Given the description of an element on the screen output the (x, y) to click on. 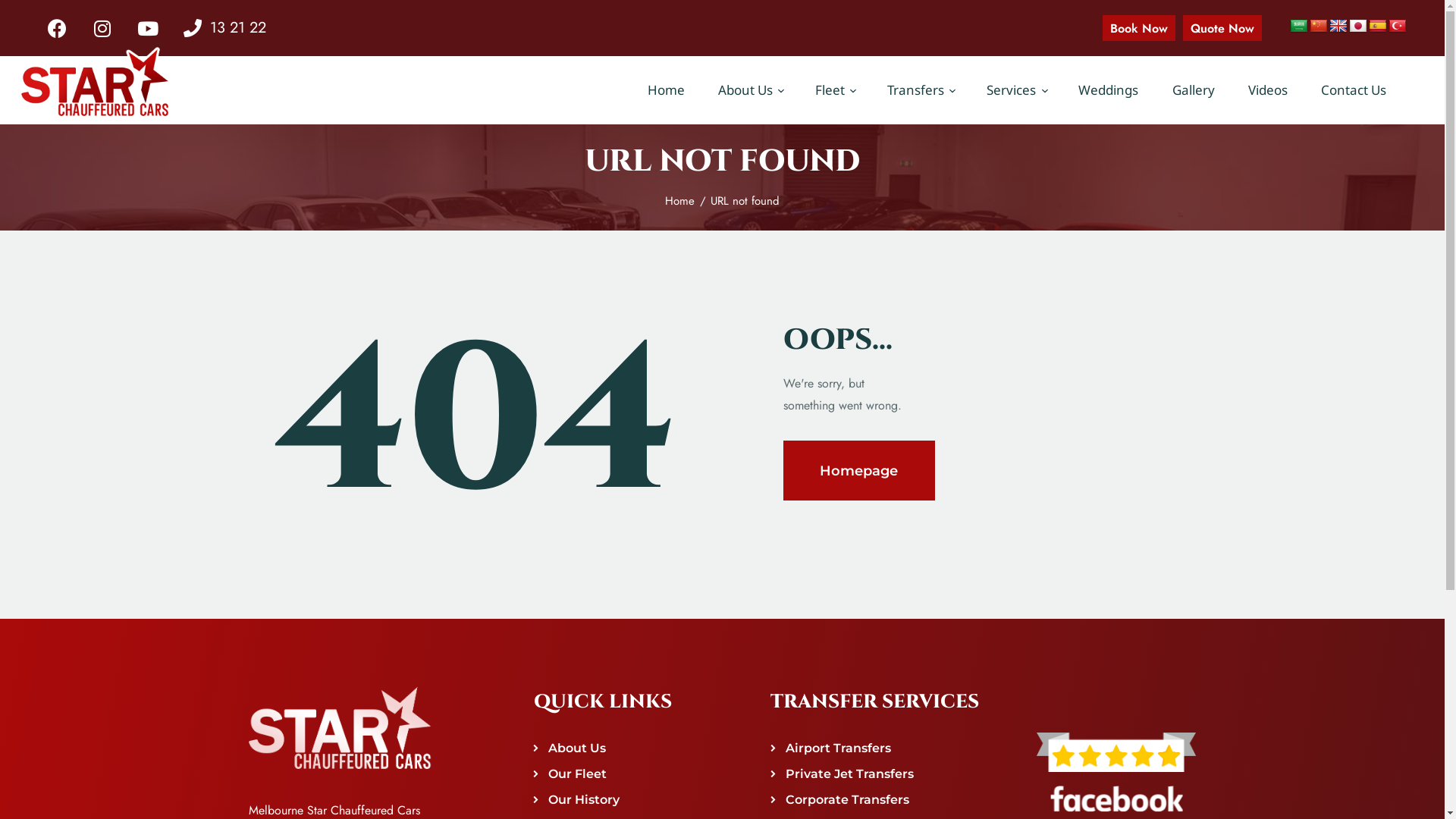
Turkish Element type: hover (1397, 26)
Fleet Element type: text (834, 89)
Chinese (Simplified) Element type: hover (1318, 26)
Spanish Element type: hover (1377, 26)
Airport Transfers Element type: text (838, 747)
Homepage Element type: text (858, 470)
Quote Now Element type: text (1222, 27)
About Us Element type: text (576, 747)
Services Element type: text (1015, 89)
Japanese Element type: hover (1358, 26)
Videos Element type: text (1267, 89)
Weddings Element type: text (1107, 89)
Home Element type: text (679, 200)
Book Now Element type: text (1138, 27)
Corporate Transfers Element type: text (847, 799)
Contact Us Element type: text (1353, 89)
About Us Element type: text (749, 89)
Our Fleet Element type: text (577, 773)
Gallery Element type: text (1192, 89)
Private Jet Transfers Element type: text (849, 773)
13 21 22 Element type: text (224, 27)
Arabic Element type: hover (1298, 26)
Our History Element type: text (583, 799)
Transfers Element type: text (919, 89)
English Element type: hover (1338, 26)
Home Element type: text (665, 89)
